Given the description of an element on the screen output the (x, y) to click on. 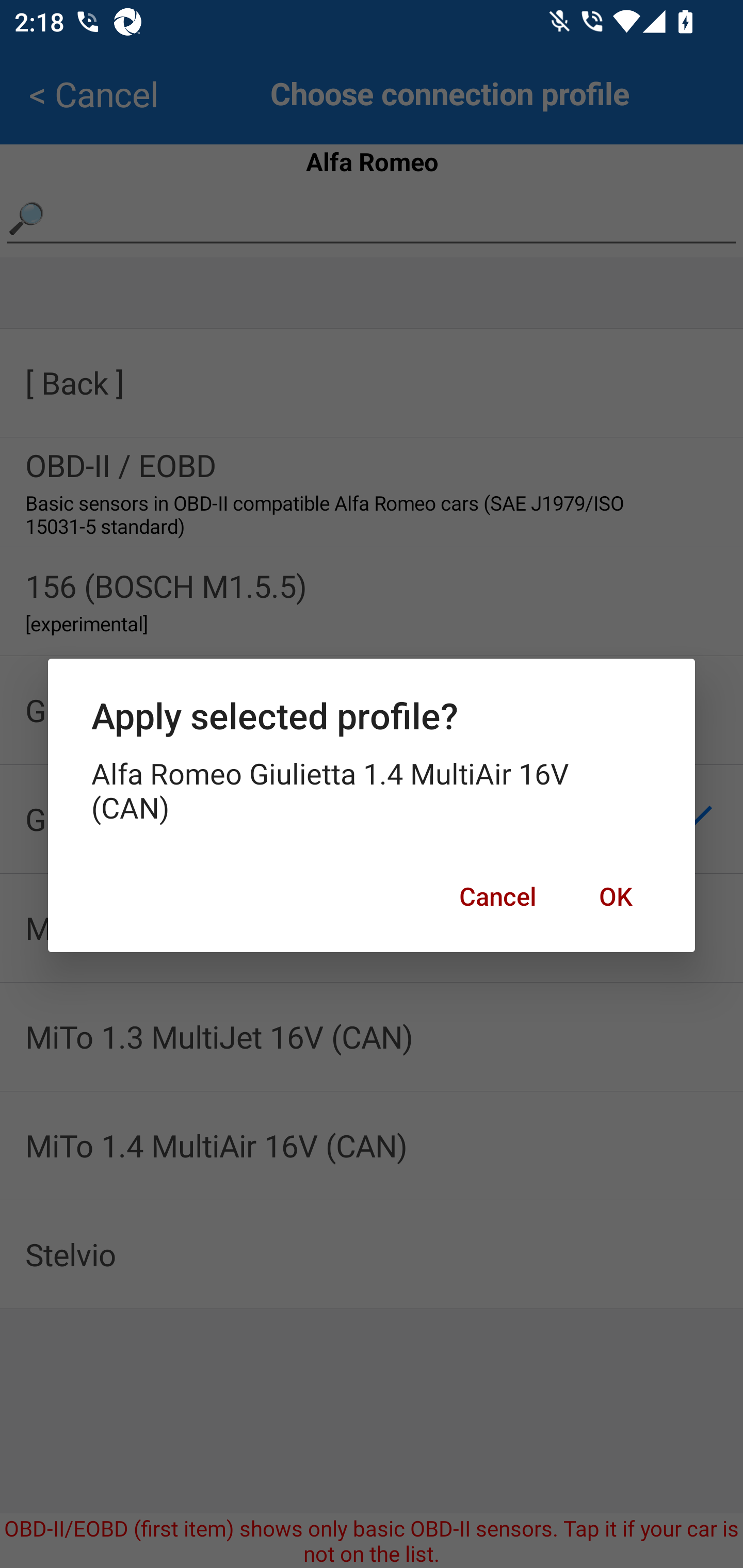
Cancel (497, 895)
OK (615, 895)
